Given the description of an element on the screen output the (x, y) to click on. 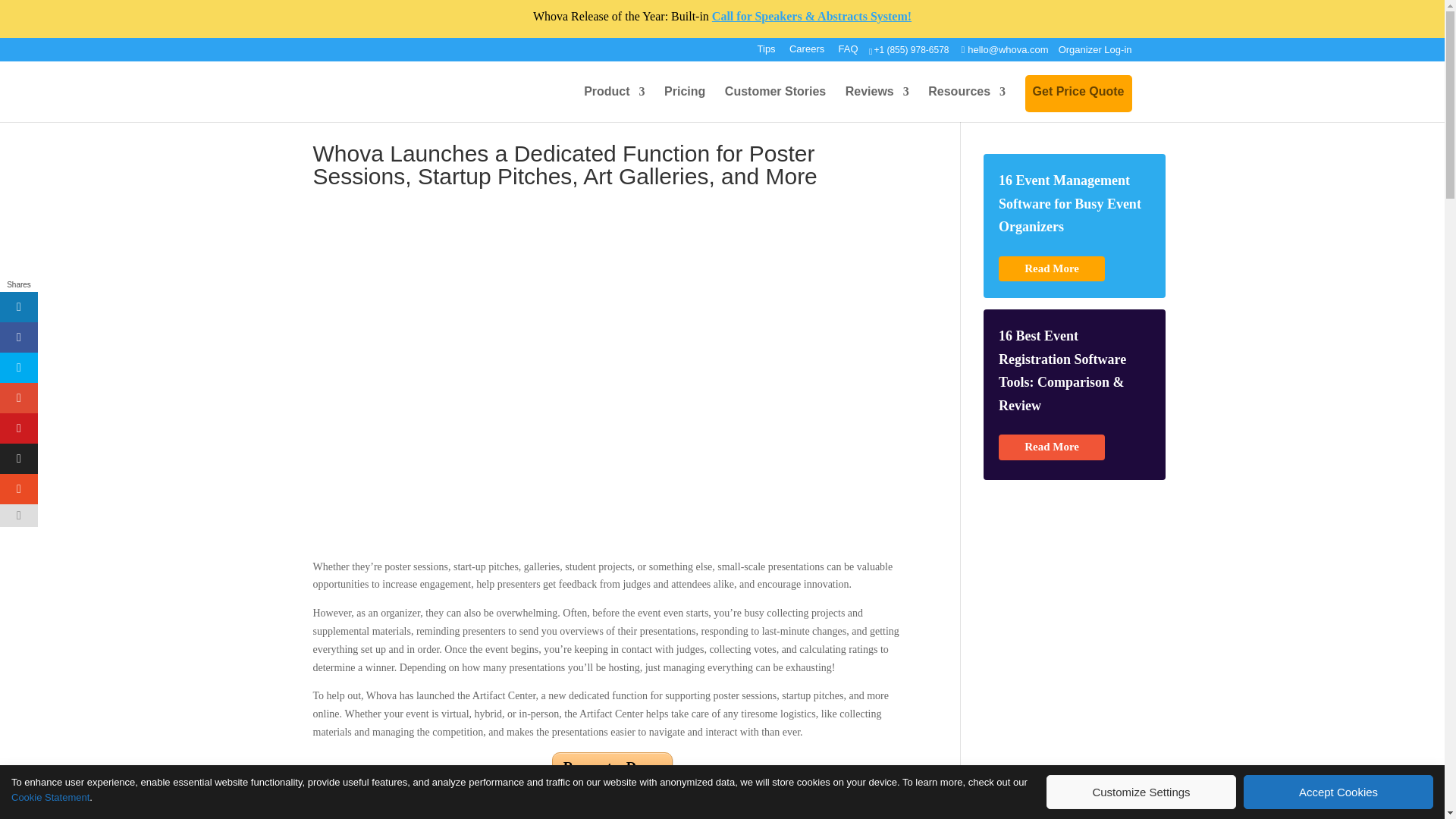
Tips (766, 53)
Customer Stories (775, 104)
Careers (806, 53)
Organizer Log-in (1091, 49)
Accept Cookies (1337, 791)
FAQ     (853, 53)
Cookie Statement (49, 797)
Reviews (876, 104)
Product (614, 104)
